Given the description of an element on the screen output the (x, y) to click on. 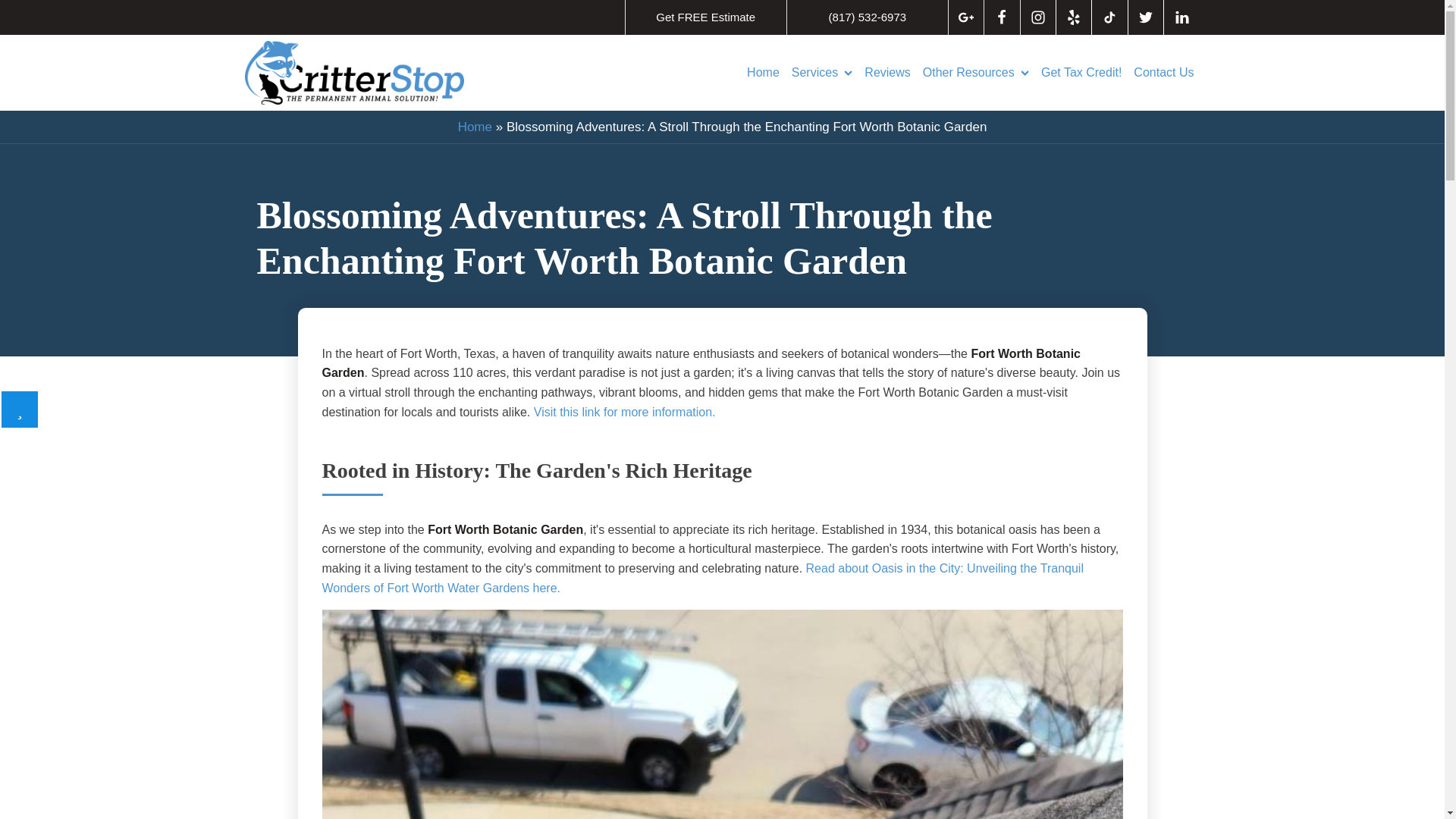
Home (763, 72)
Services (822, 72)
Home (475, 126)
